Given the description of an element on the screen output the (x, y) to click on. 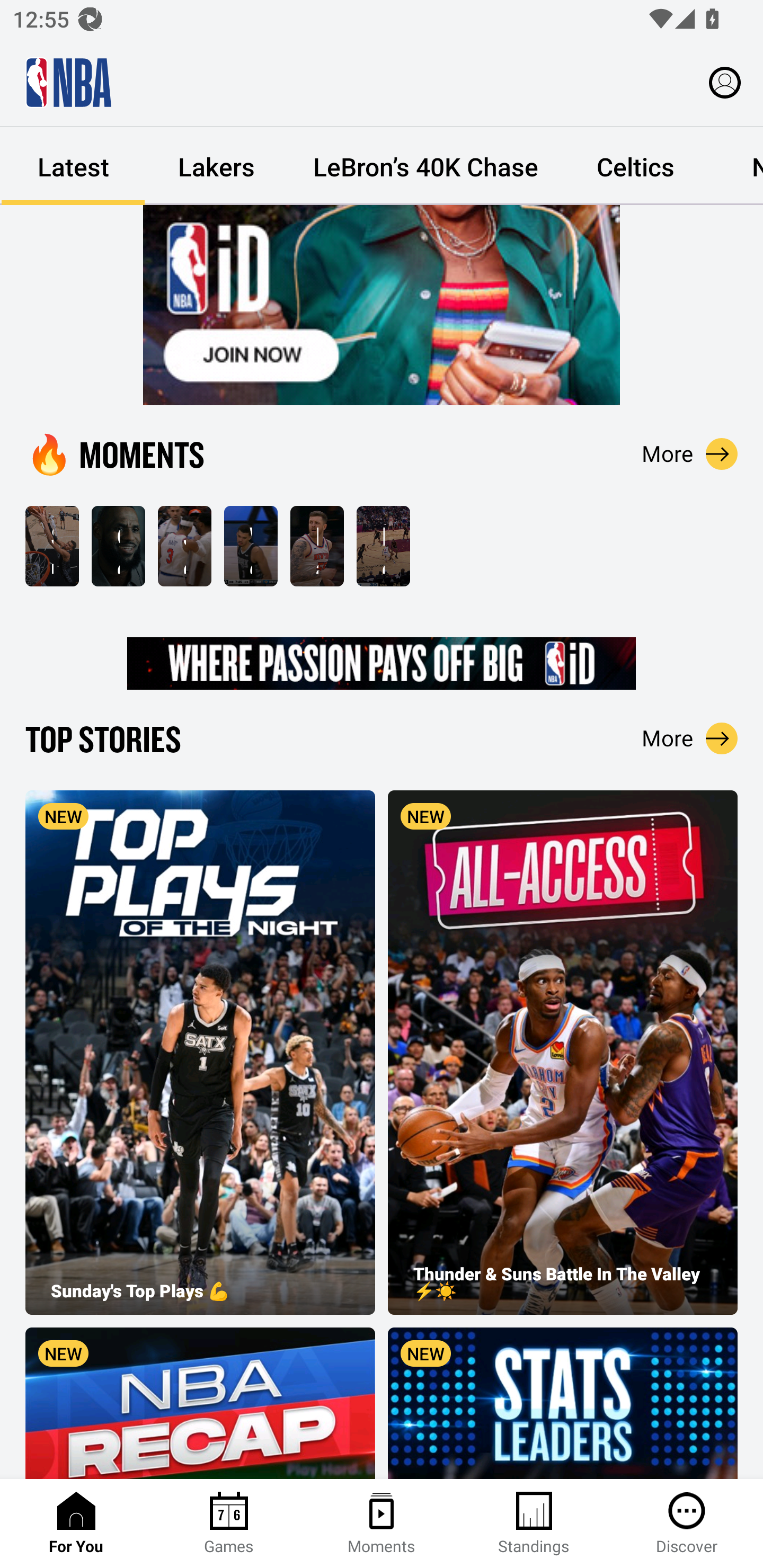
Profile (724, 81)
Lakers (215, 166)
LeBron’s 40K Chase (425, 166)
Celtics (634, 166)
More (689, 453)
Sunday's Top Plays In 30 Seconds ⏱ (51, 546)
Hartenstein Drops The Hammer 🔨 (317, 546)
More (689, 738)
NEW Sunday's Top Plays 💪 (200, 1052)
NEW Thunder & Suns Battle In The Valley ⚡☀ (562, 1052)
Games (228, 1523)
Moments (381, 1523)
Standings (533, 1523)
Discover (686, 1523)
